Given the description of an element on the screen output the (x, y) to click on. 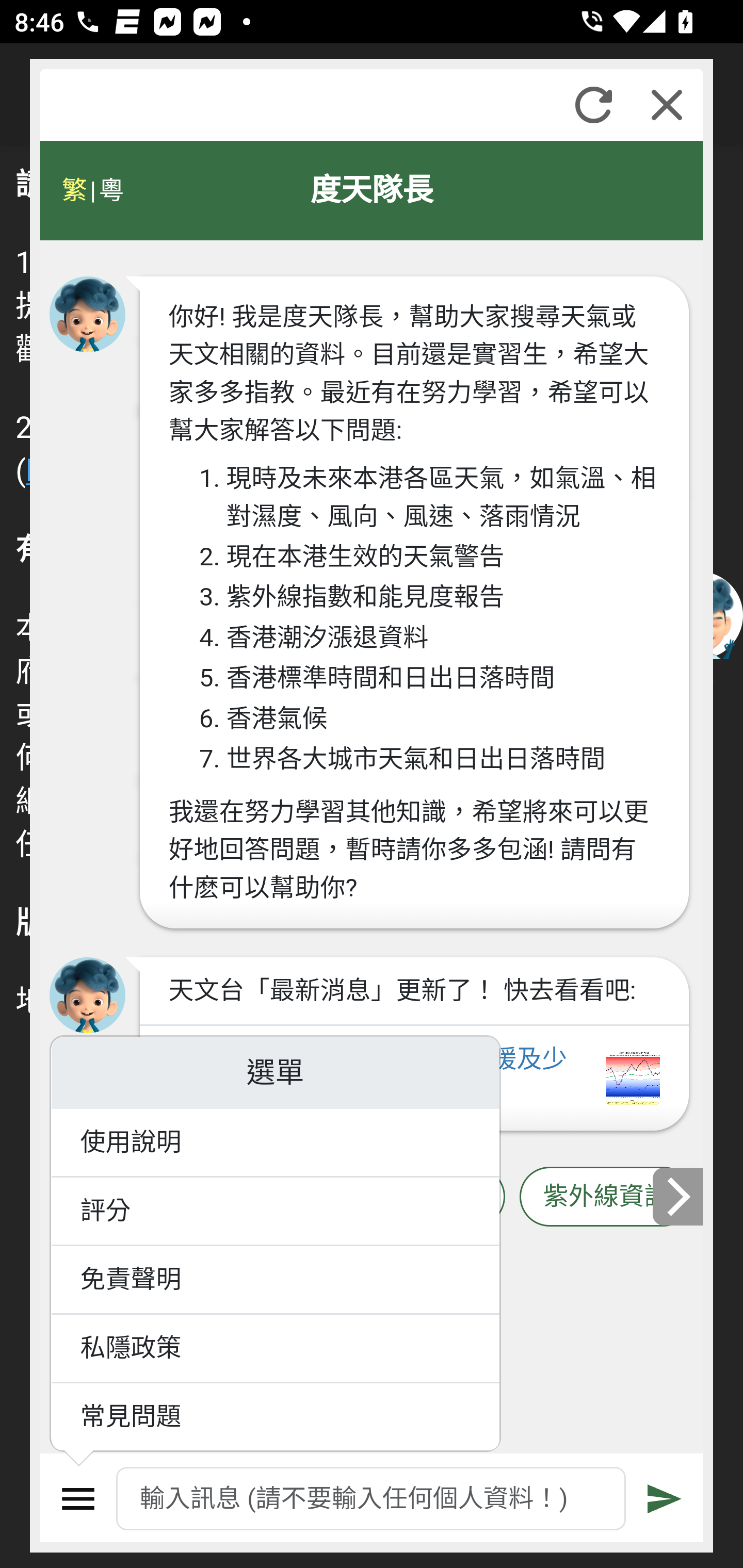
重新整理 (593, 104)
關閉 (666, 104)
繁 (73, 190)
粵 (110, 190)
使用說明 (275, 1143)
紫外線資訊 (605, 1196)
下一張 (678, 1196)
評分 (275, 1211)
免責聲明 (275, 1279)
私隱政策 (275, 1348)
常見問題 (275, 1416)
選單 (78, 1498)
遞交 (665, 1498)
